Given the description of an element on the screen output the (x, y) to click on. 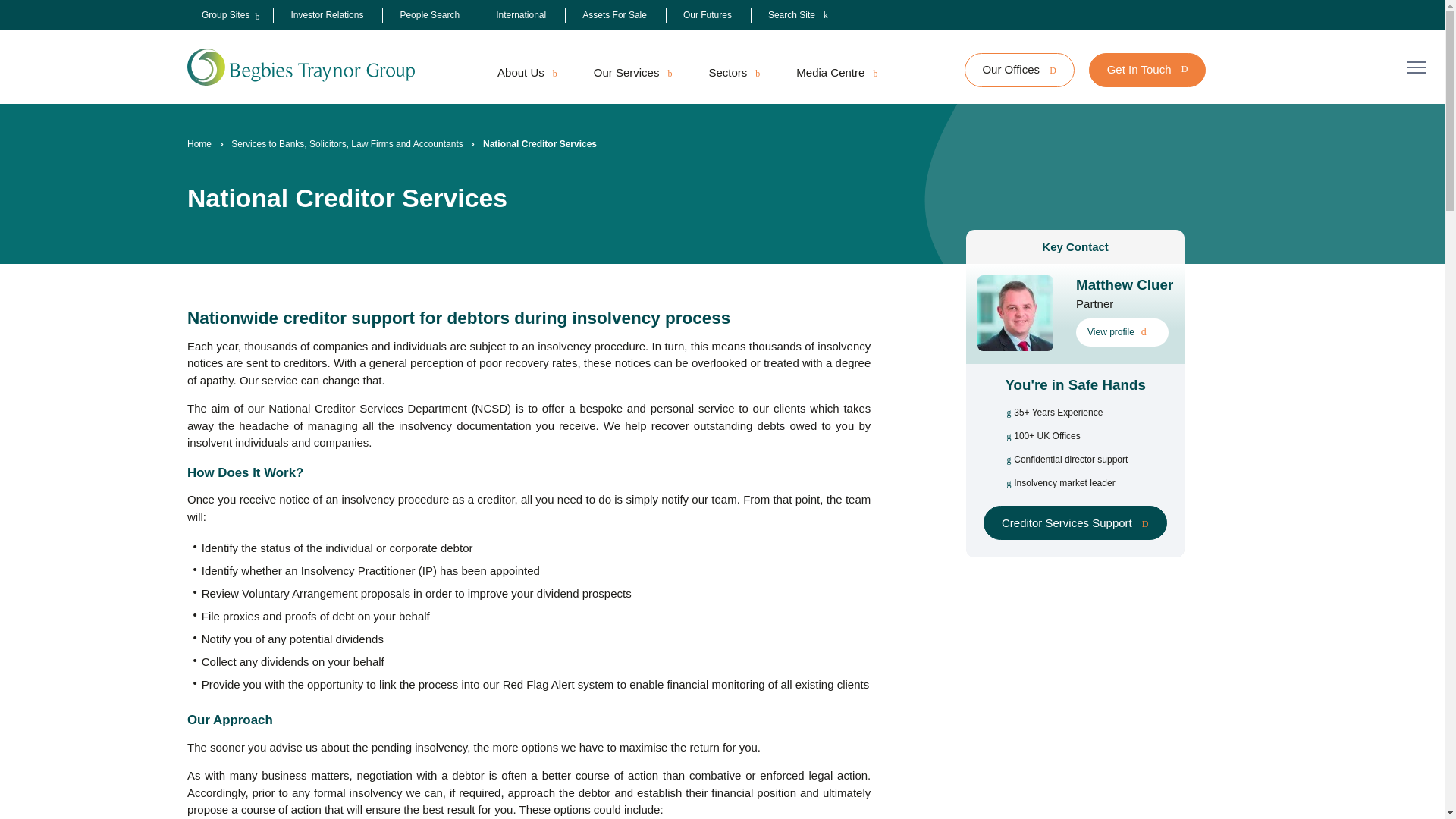
People Search (429, 15)
About Us (527, 73)
Assets For Sale (614, 15)
Group Sites (225, 15)
Investor Relations (325, 15)
Our Futures (707, 15)
Search Site (798, 15)
Go to Home (199, 143)
International (521, 15)
